Given the description of an element on the screen output the (x, y) to click on. 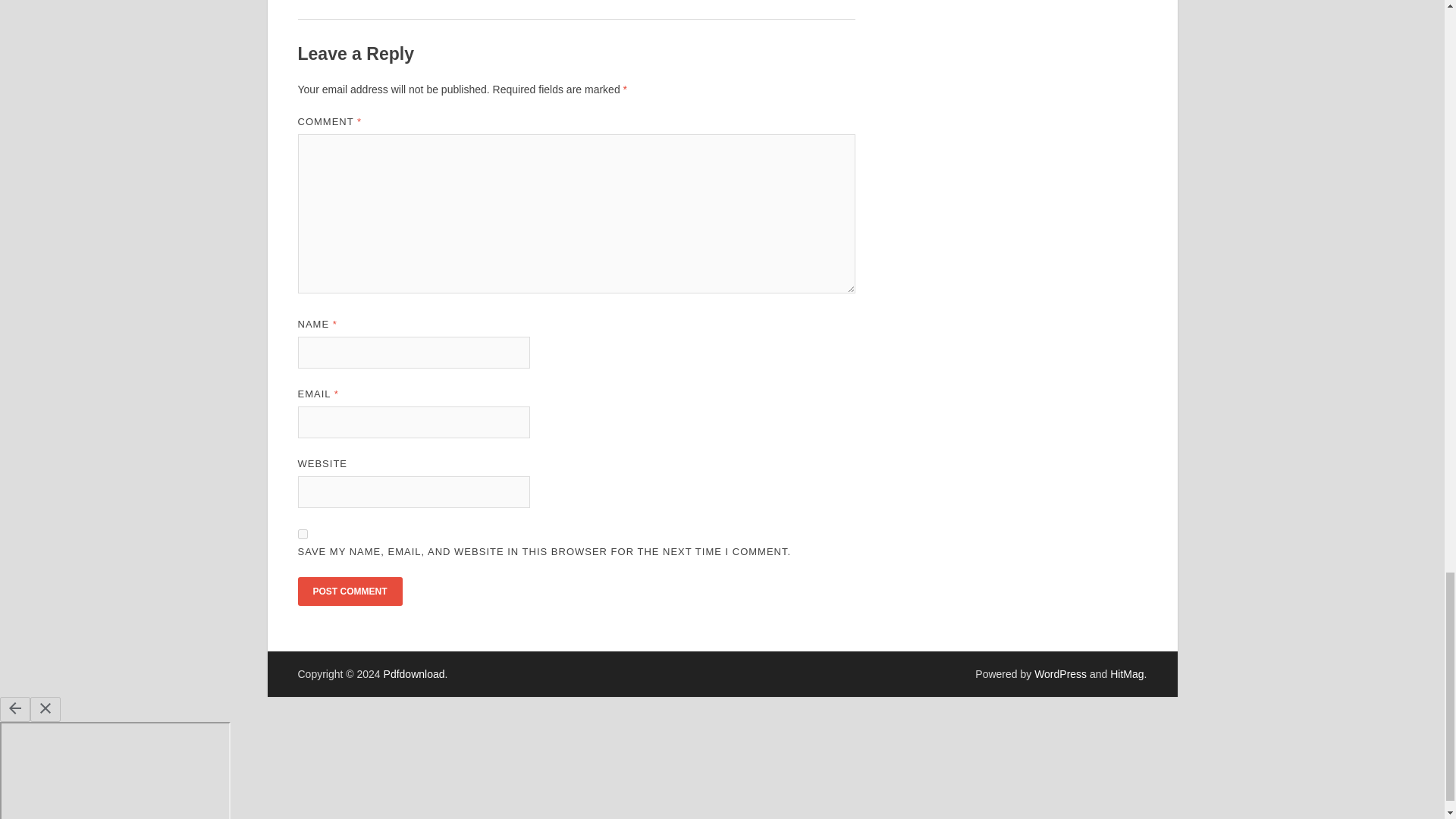
Pdfdownload (414, 674)
yes (302, 533)
Post Comment (349, 591)
WordPress (1059, 674)
Post Comment (349, 591)
HitMag WordPress Theme (1125, 674)
